Given the description of an element on the screen output the (x, y) to click on. 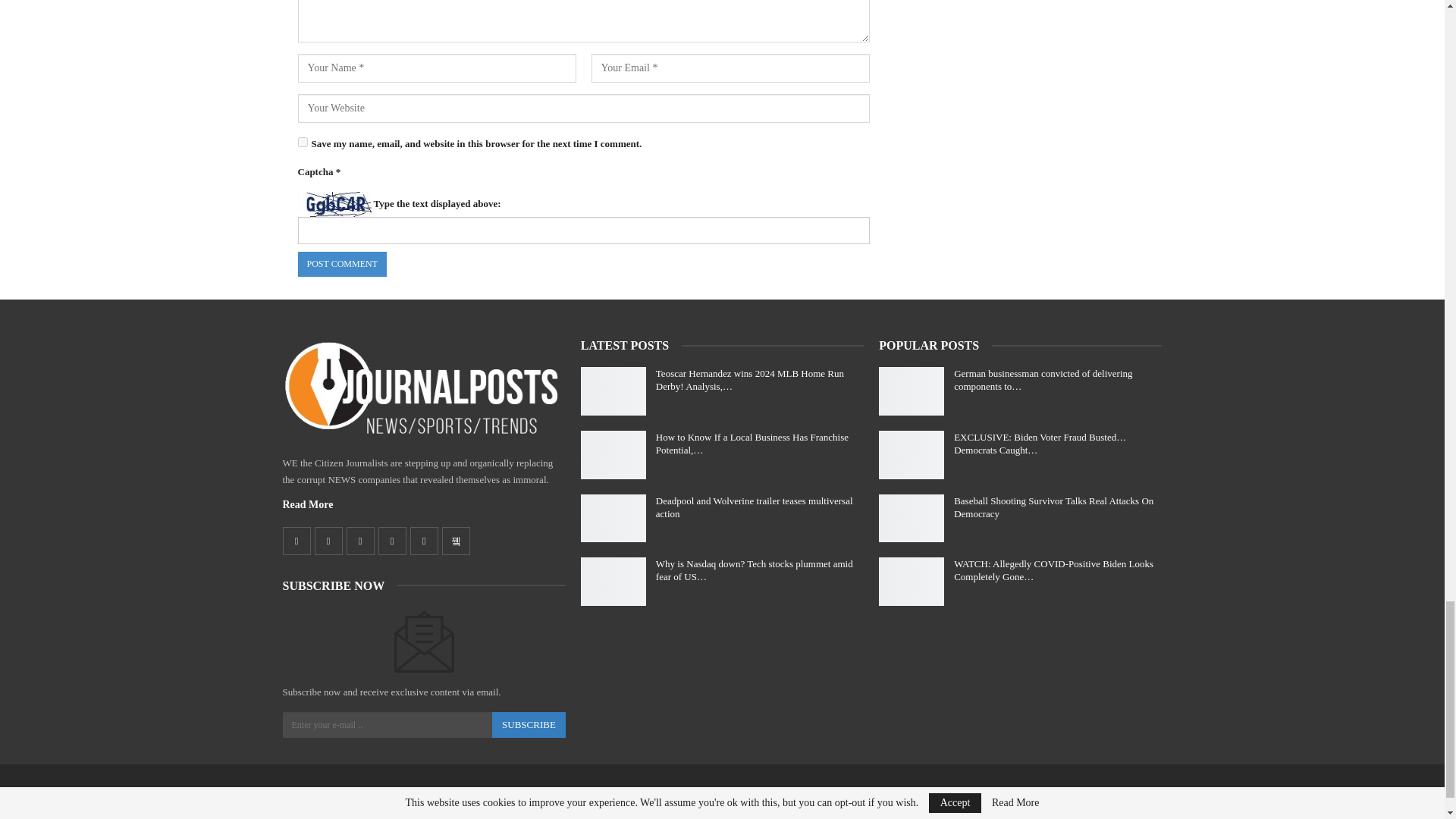
yes (302, 142)
Post Comment (341, 263)
